Given the description of an element on the screen output the (x, y) to click on. 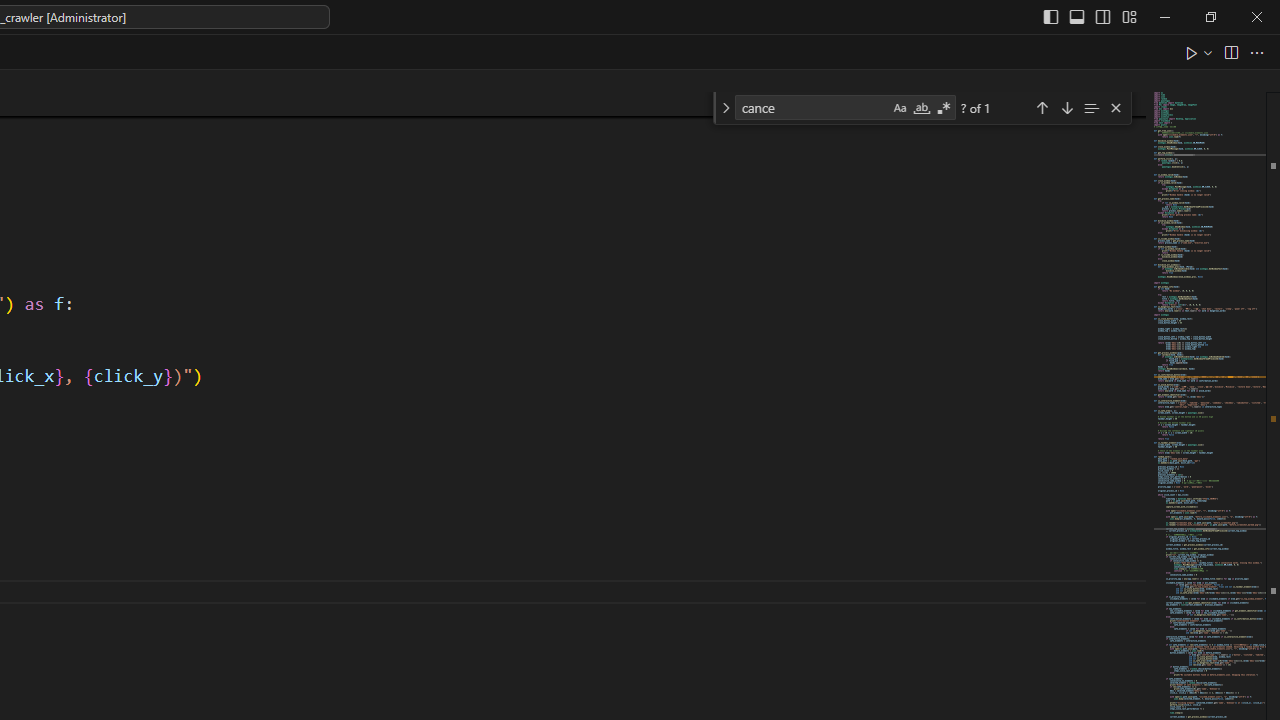
Run Python File (1192, 52)
Toggle Panel (Ctrl+J) (1077, 16)
Match Whole Word (Alt+W) (921, 107)
Restore (1210, 16)
Use Regular Expression (Alt+R) (943, 107)
Match Case (Alt+C) (899, 107)
